Given the description of an element on the screen output the (x, y) to click on. 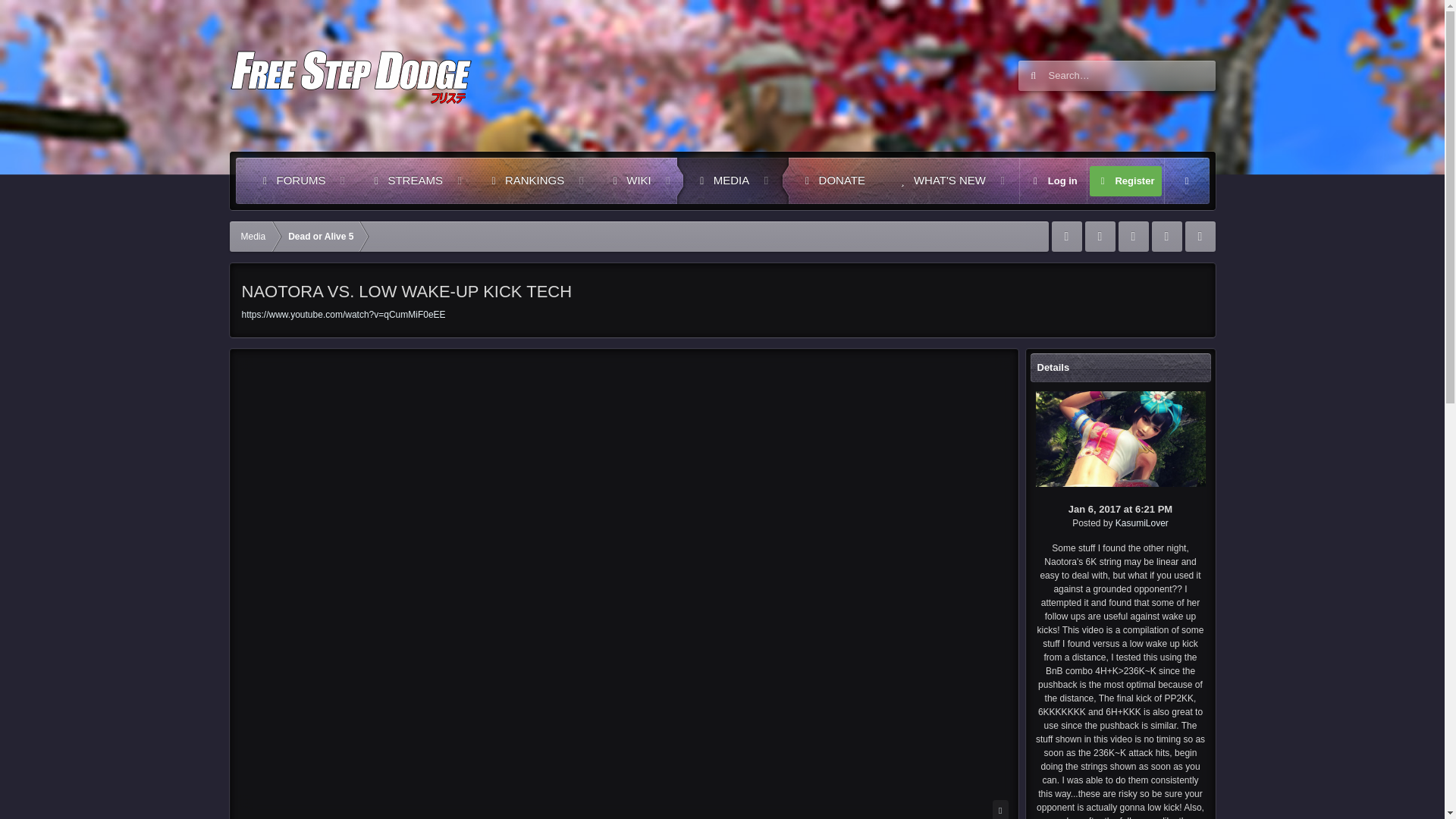
WHAT'S NEW (940, 180)
MEDIA (722, 180)
STREAMS (405, 180)
Log in (626, 180)
Register (1053, 180)
WIKI (1124, 180)
FORUMS (628, 180)
Customize (291, 180)
RANKINGS (1185, 180)
